Given the description of an element on the screen output the (x, y) to click on. 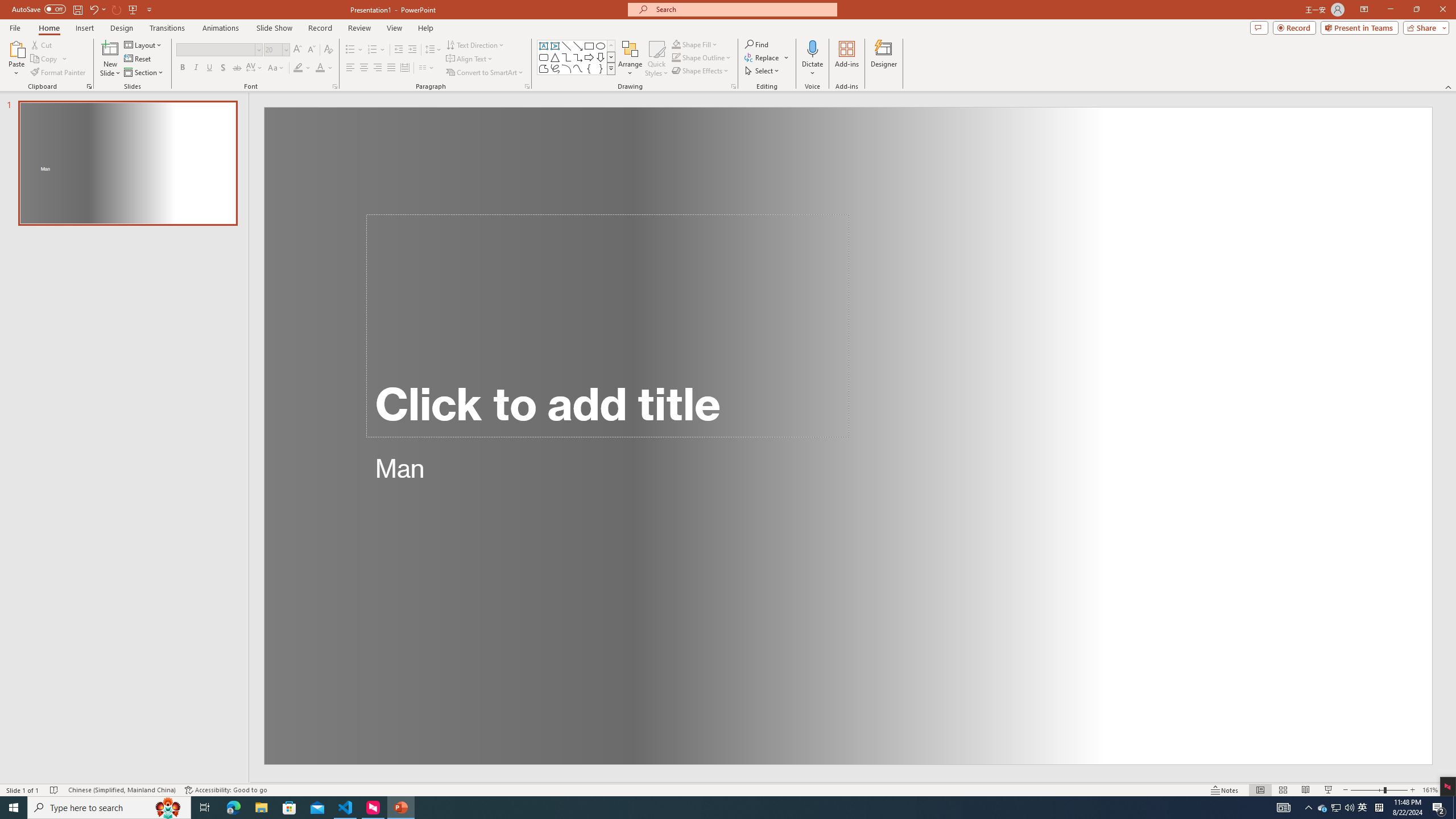
Zoom 161% (1430, 790)
